Given the description of an element on the screen output the (x, y) to click on. 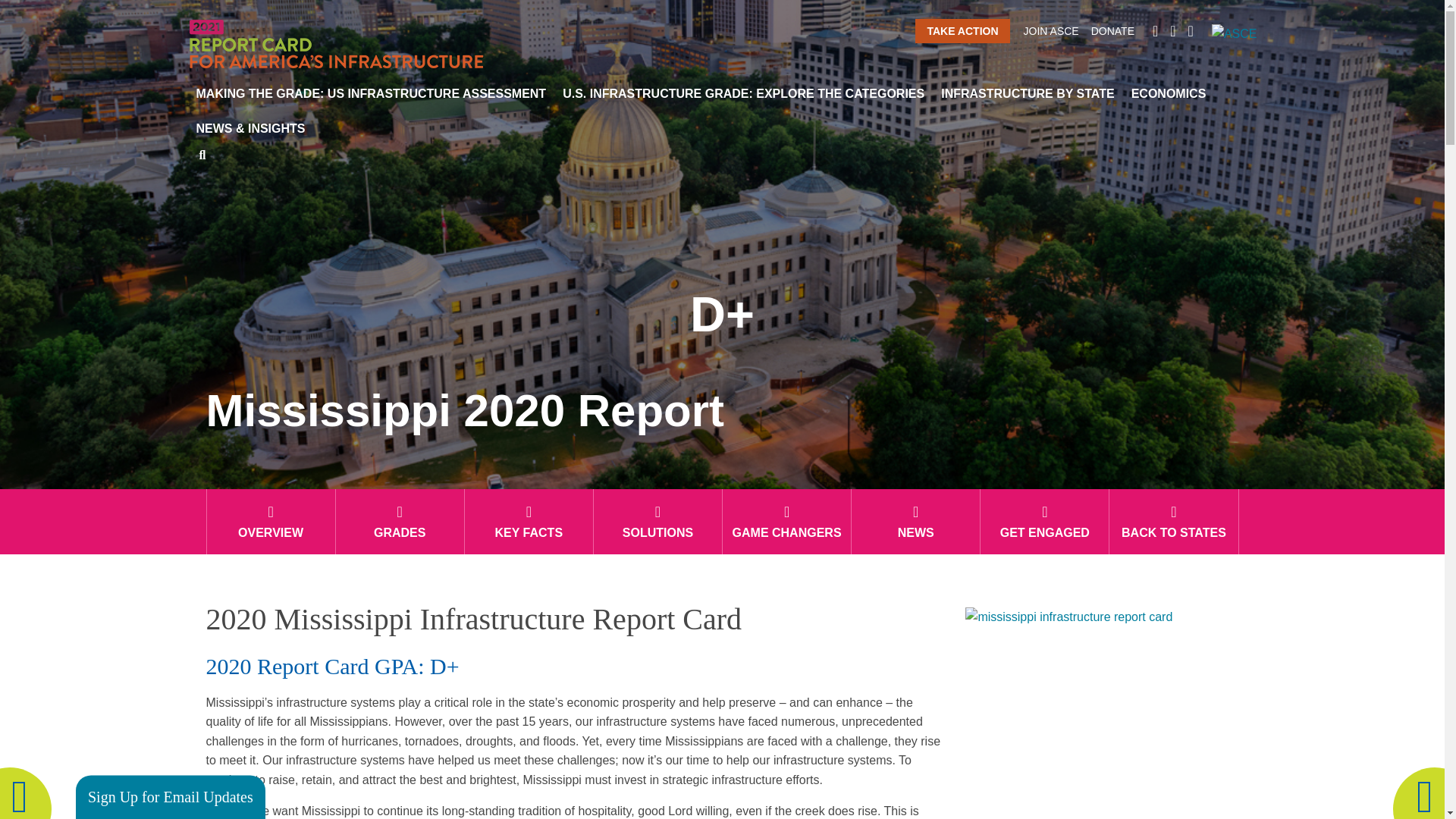
MAKING THE GRADE: US INFRASTRUCTURE ASSESSMENT (370, 93)
TAKE ACTION (961, 30)
JOIN ASCE (1050, 30)
U.S. INFRASTRUCTURE GRADE: EXPLORE THE CATEGORIES (743, 93)
DONATE (1112, 30)
